Given the description of an element on the screen output the (x, y) to click on. 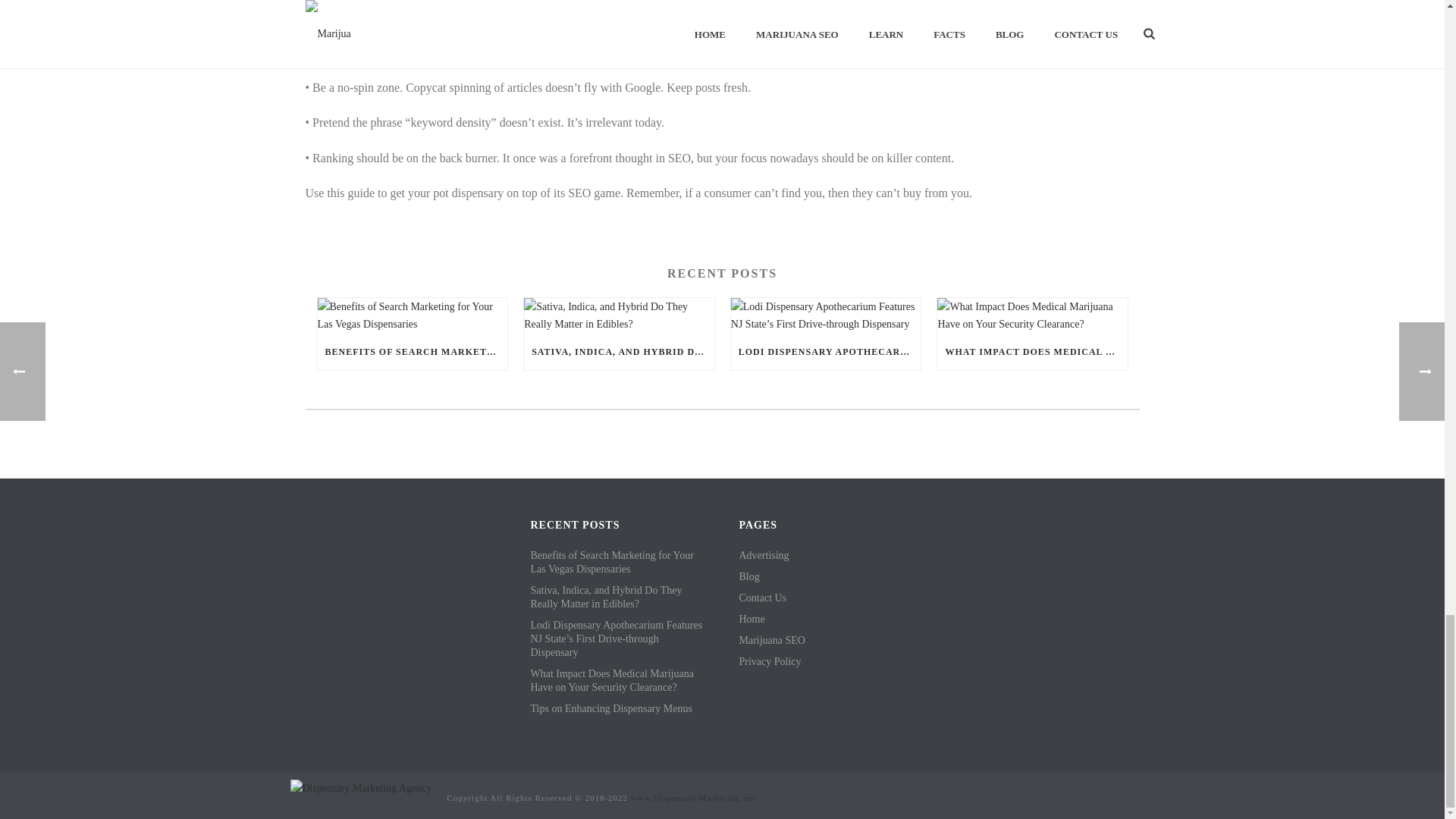
SATIVA, INDICA, AND HYBRID DO THEY REALLY MATTER IN EDIBLES? (619, 351)
Sativa, Indica, and Hybrid Do They Really Matter in Edibles? (619, 315)
Advertising (763, 555)
Blog (748, 576)
Dispensary Marketing Agency (359, 787)
Home (751, 619)
Sativa, Indica, and Hybrid Do They Really Matter in Edibles? (618, 596)
Tips on Enhancing Dispensary Menus (612, 708)
